Given the description of an element on the screen output the (x, y) to click on. 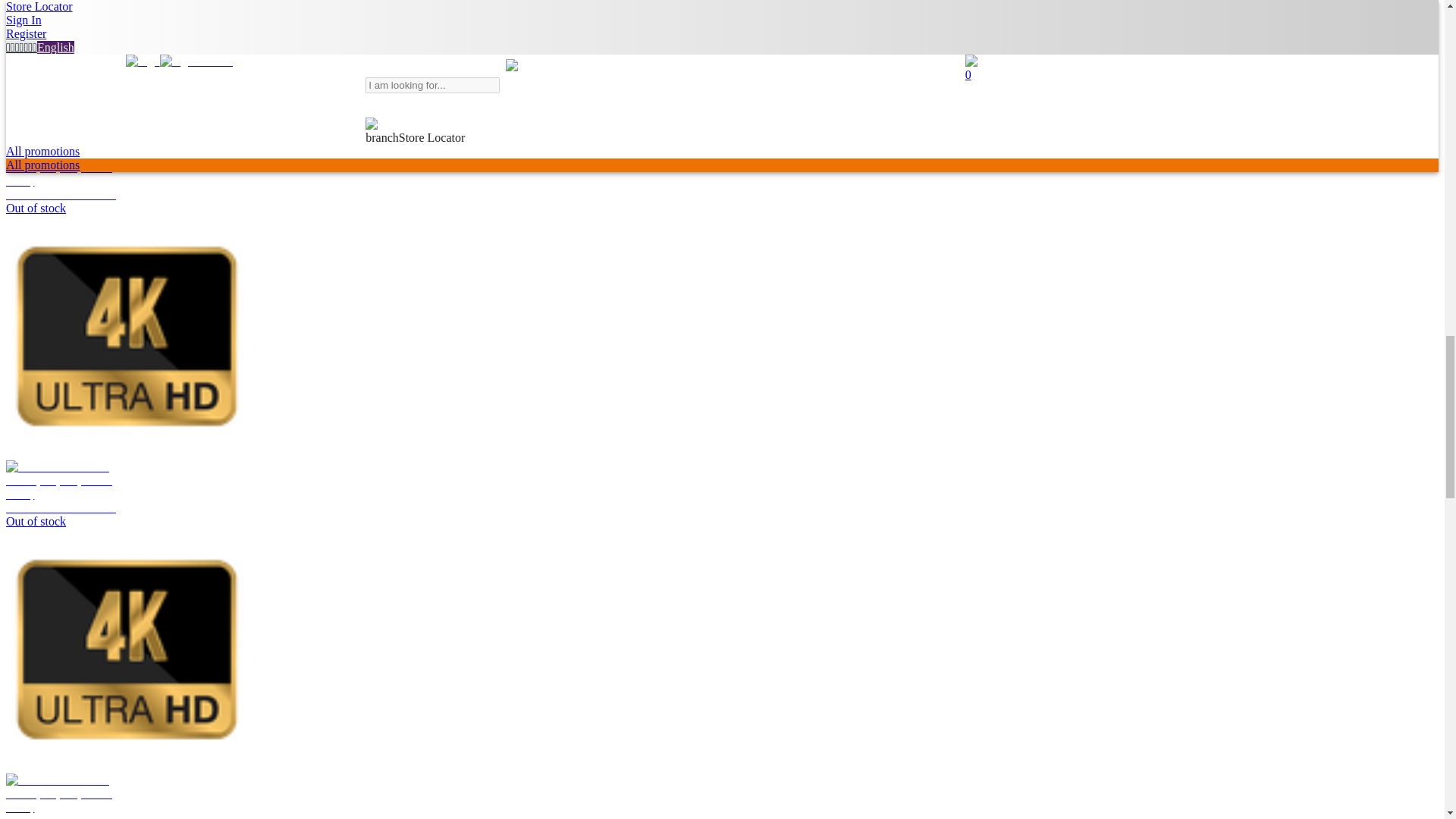
Out of stock (60, 816)
